Given the description of an element on the screen output the (x, y) to click on. 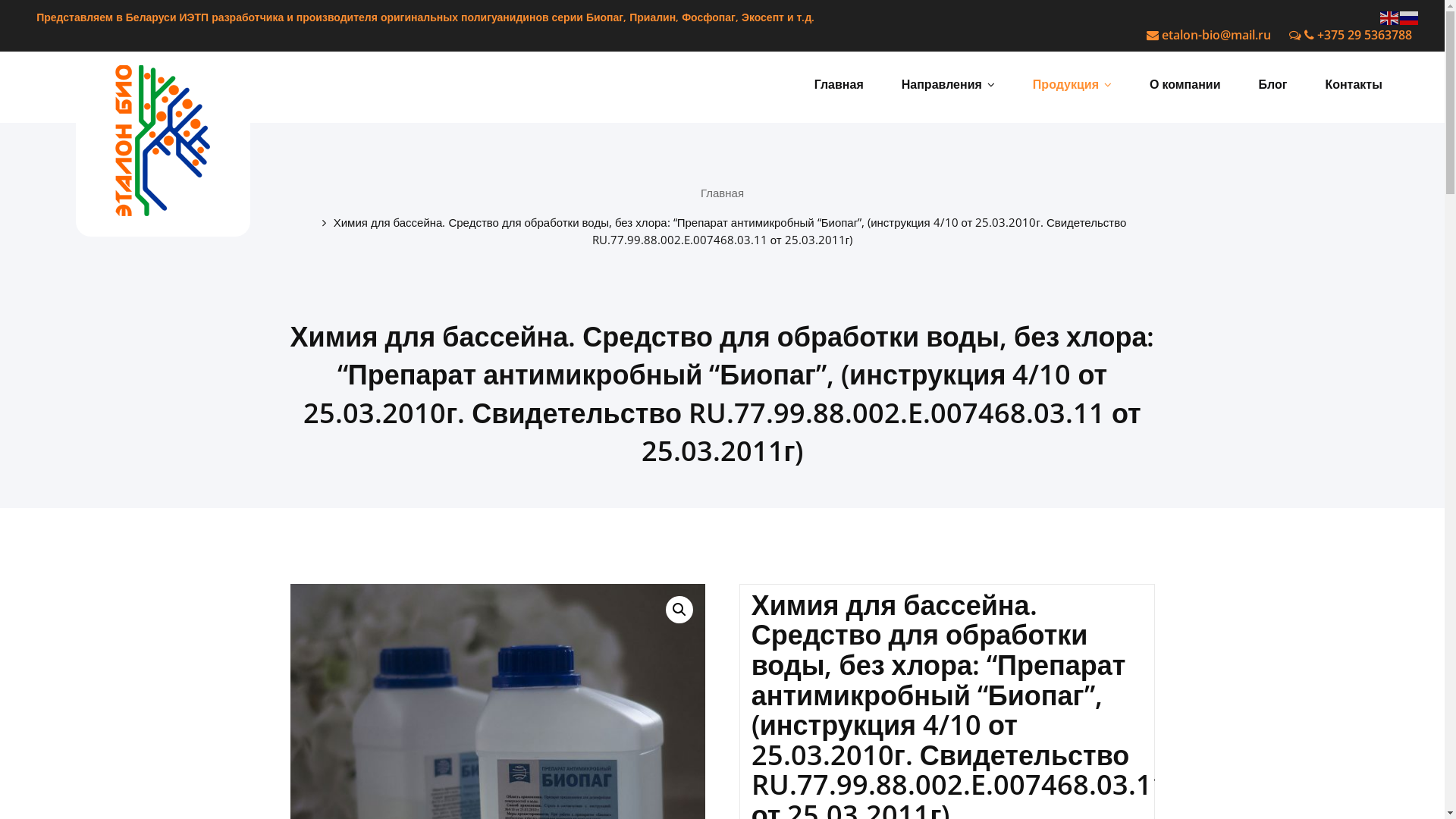
Russian Element type: hover (1409, 16)
+375 29 5363788 Element type: text (1350, 34)
English Element type: hover (1389, 16)
etalon-bio@mail.ru Element type: text (1208, 34)
